Given the description of an element on the screen output the (x, y) to click on. 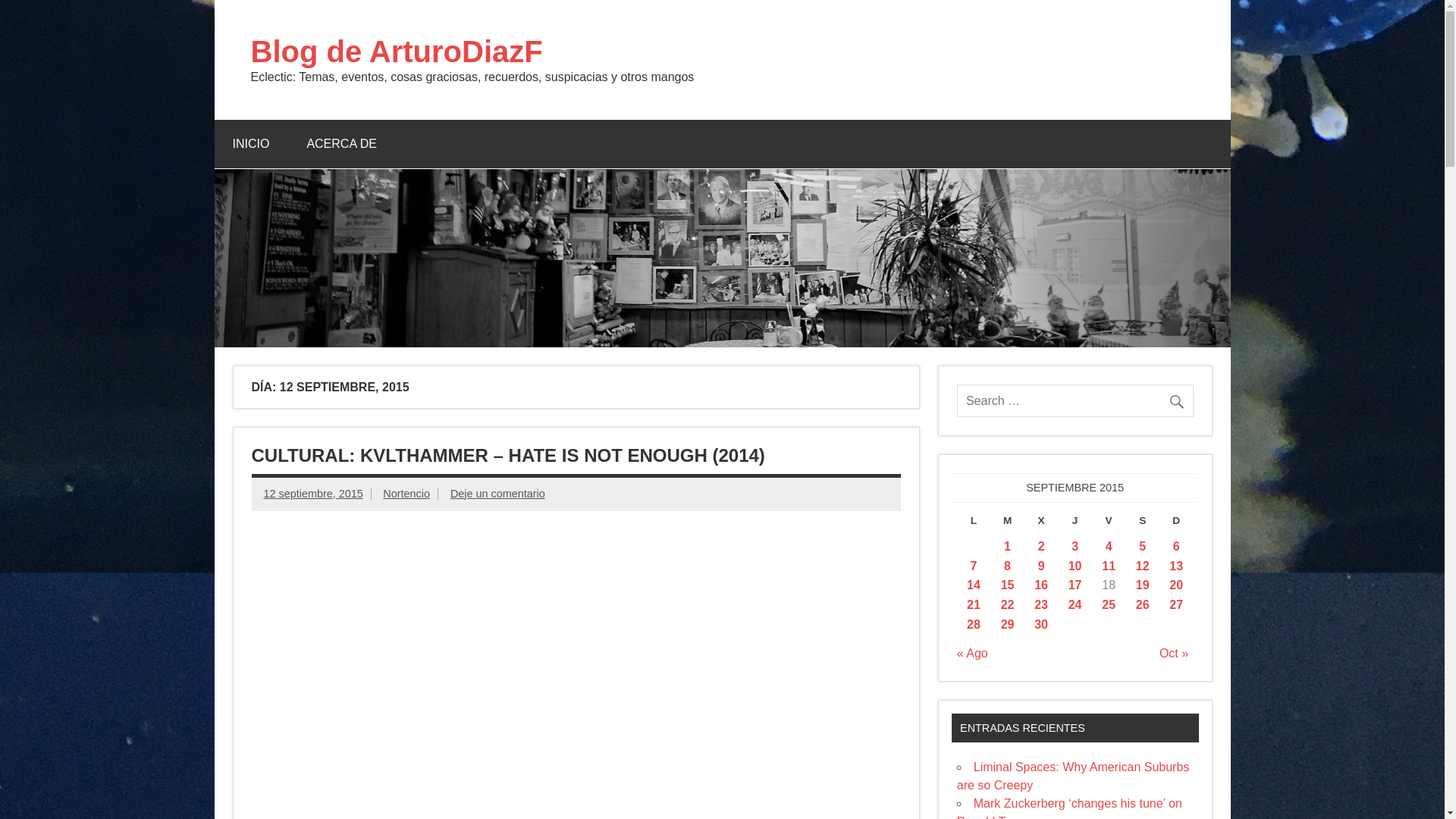
ACERCA DE (341, 143)
Deje un comentario (496, 493)
domingo (1175, 524)
INICIO (250, 143)
12 septiembre, 2015 (312, 493)
viernes (1108, 524)
1:12 pm (312, 493)
Nortencio (405, 493)
Blog de ArturoDiazF (395, 51)
jueves (1075, 524)
lunes (973, 524)
Ver todas las entradas por Nortencio (405, 493)
martes (1007, 524)
